Given the description of an element on the screen output the (x, y) to click on. 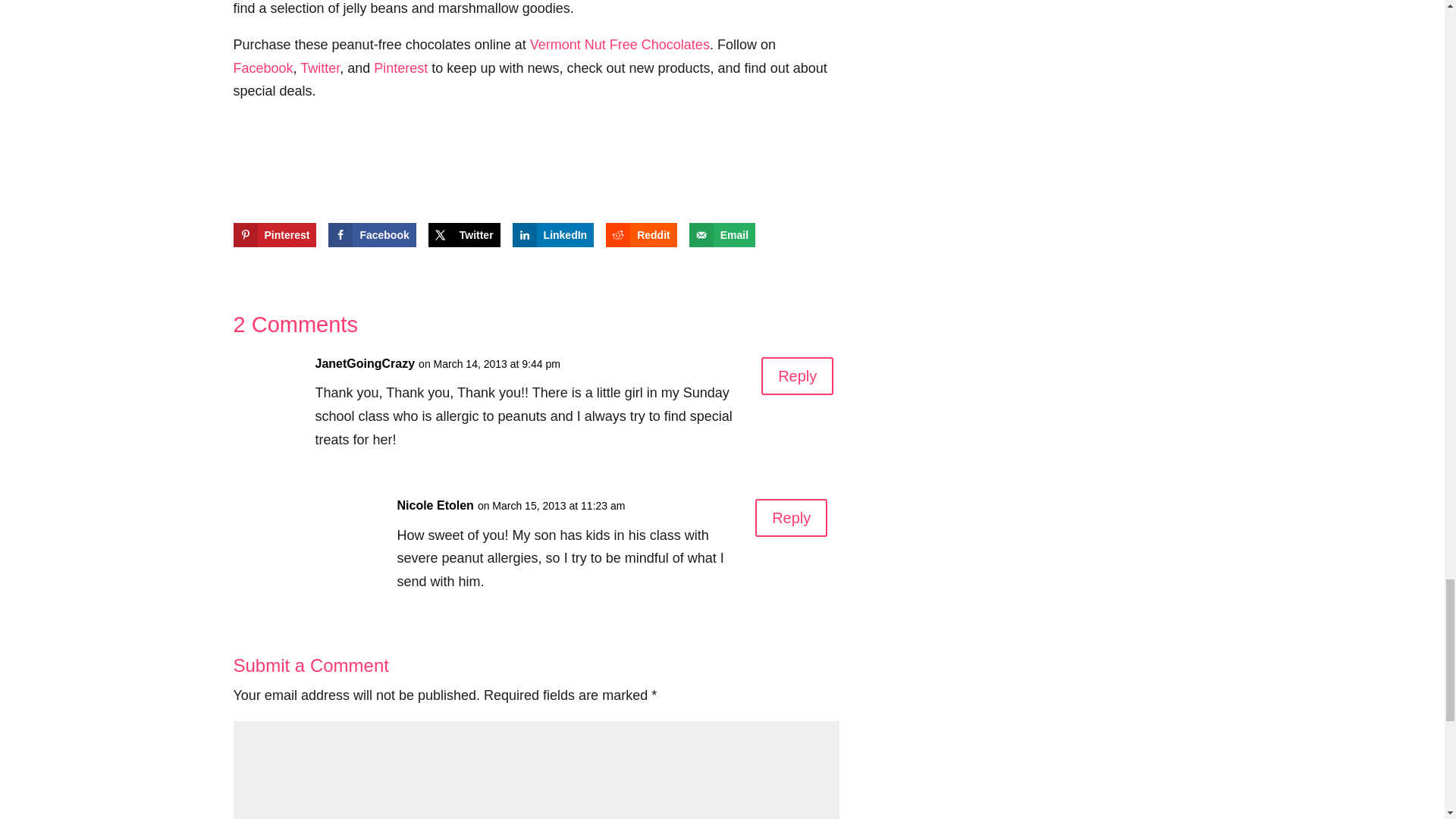
Share on Facebook (371, 234)
Share on LinkedIn (553, 234)
Safe Easter Candy for Kids with Peanut Allergies 4 (535, 179)
Save to Pinterest (274, 234)
Share on X (464, 234)
